Given the description of an element on the screen output the (x, y) to click on. 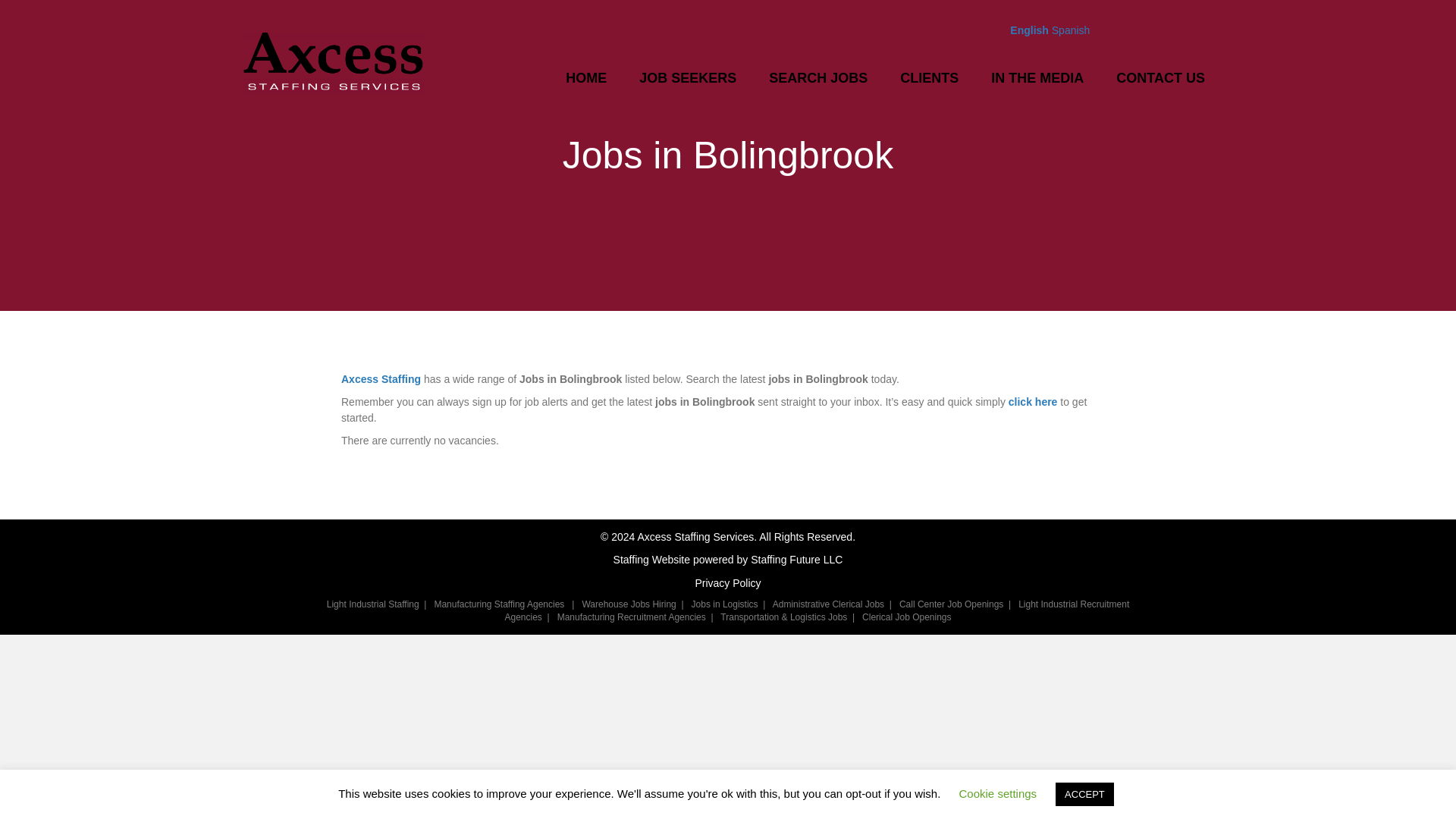
Manufacturing Staffing Agencies (498, 603)
Light Industrial Staffing (372, 603)
Clerical Job Openings (905, 616)
JOB SEEKERS (687, 77)
HOME (585, 77)
IN THE MEDIA (1037, 77)
Administrative Clerical Jobs (828, 603)
Axcess Staffing (380, 378)
SEARCH JOBS (818, 77)
CLIENTS (929, 77)
